Given the description of an element on the screen output the (x, y) to click on. 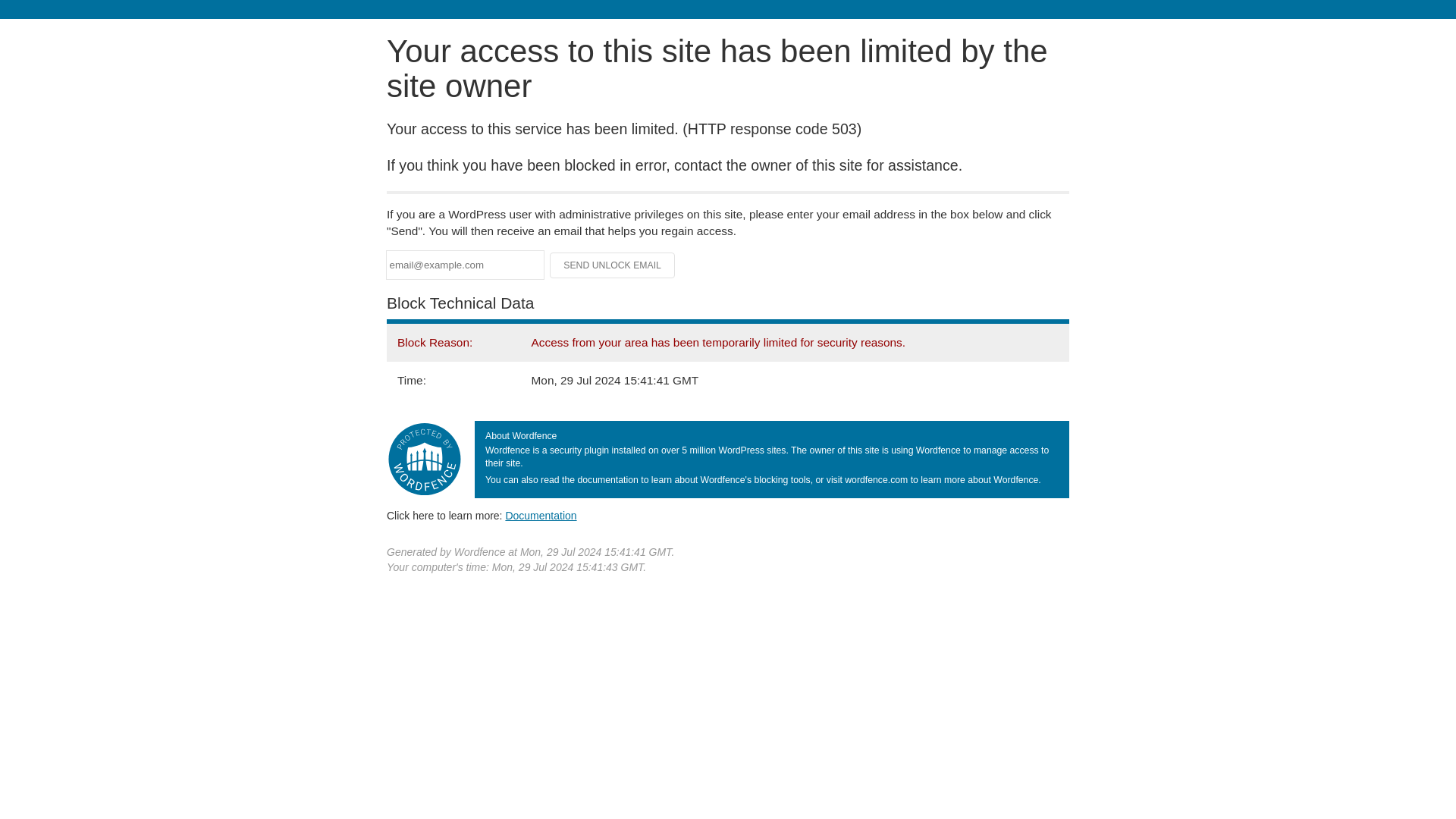
Documentation (540, 515)
Send Unlock Email (612, 265)
Send Unlock Email (612, 265)
